Given the description of an element on the screen output the (x, y) to click on. 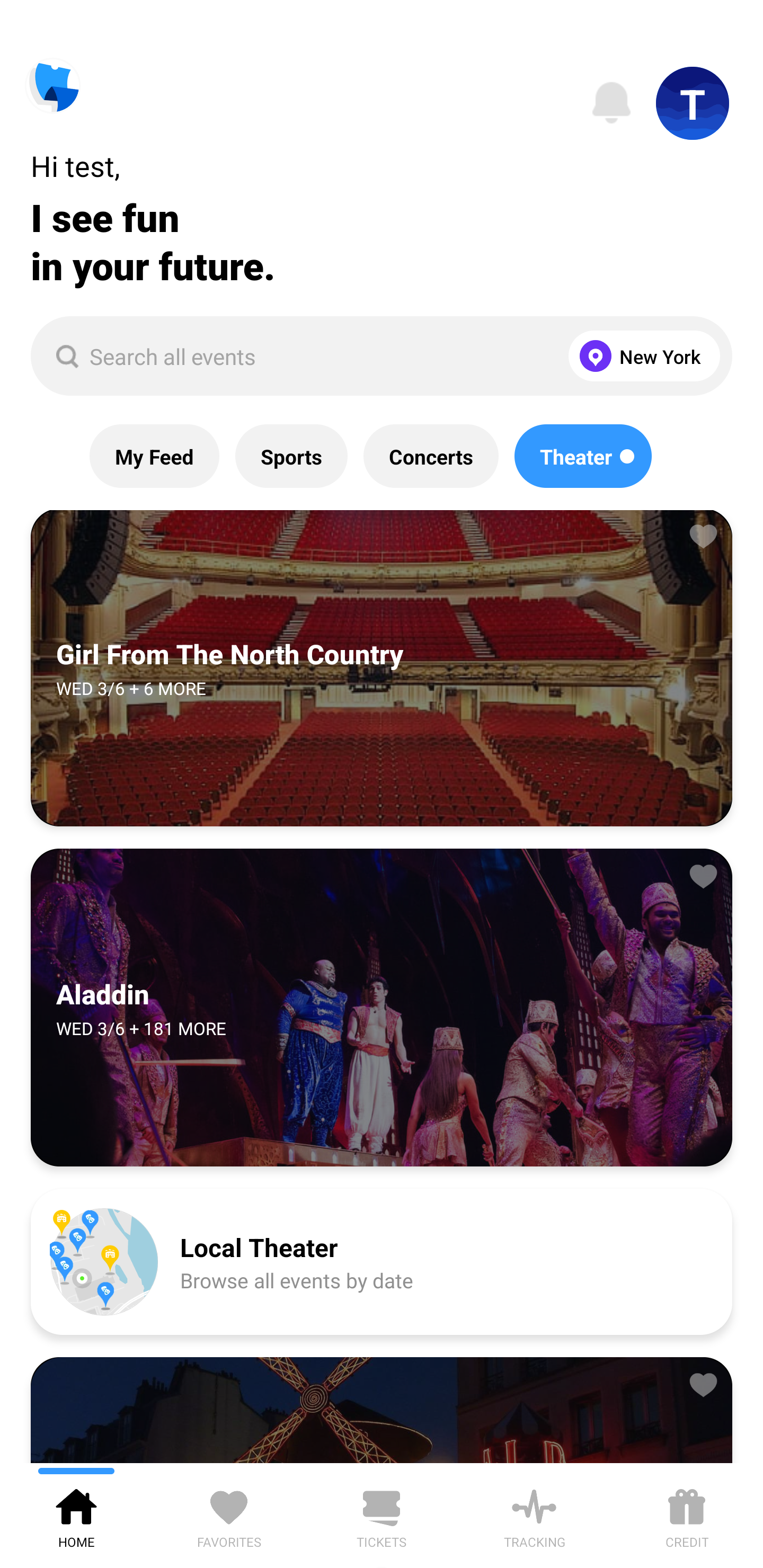
T (692, 103)
New York (640, 355)
My Feed (154, 455)
Sports (291, 455)
Concerts (430, 455)
Theater (582, 455)
HOME (76, 1515)
FAVORITES (228, 1515)
TICKETS (381, 1515)
TRACKING (533, 1515)
CREDIT (686, 1515)
